Given the description of an element on the screen output the (x, y) to click on. 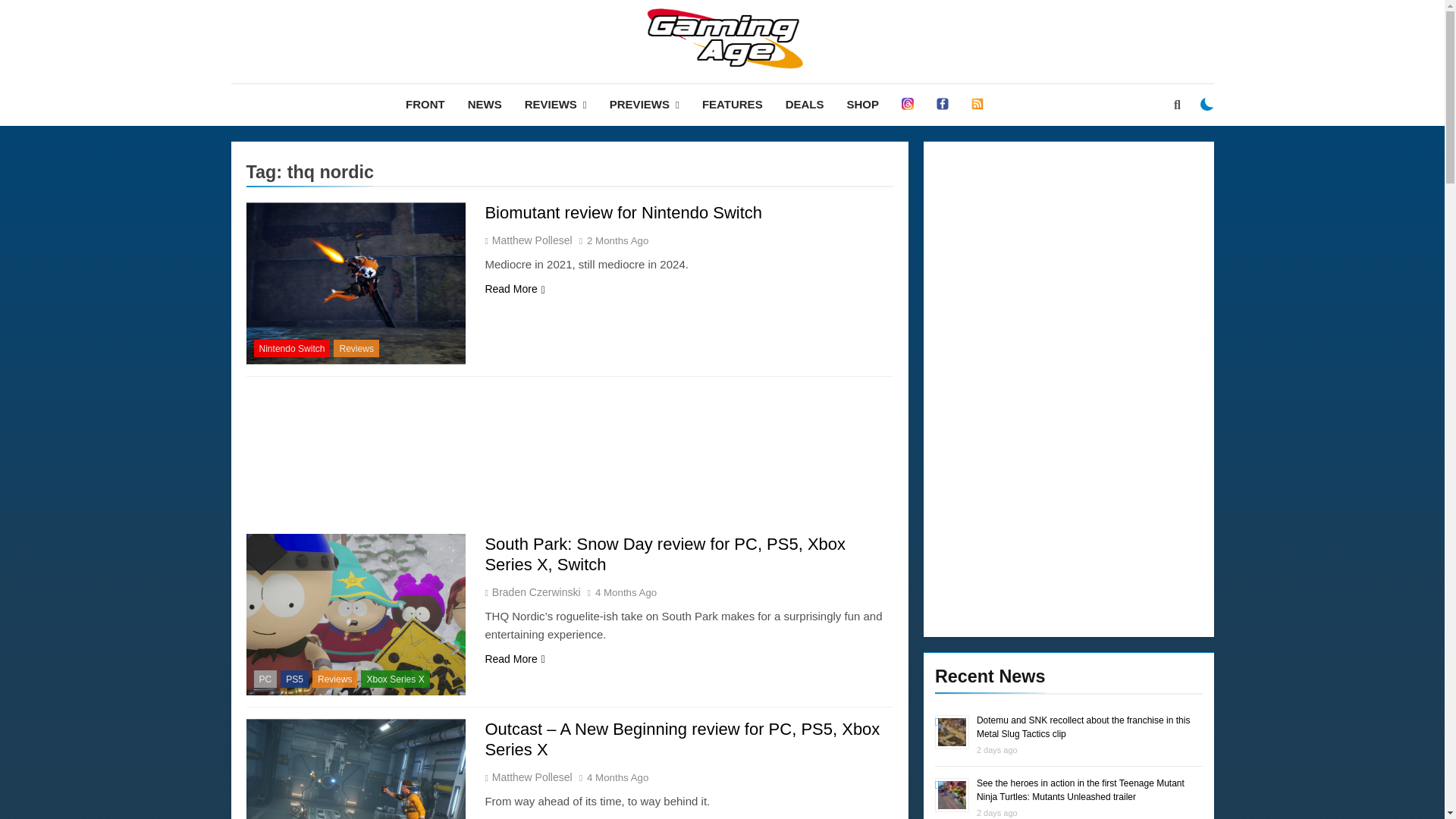
Gaming Age on Facebook (941, 104)
REVIEWS (555, 105)
Advertisement (569, 457)
on (1206, 104)
Biomutant review for Nintendo Switch (622, 212)
PREVIEWS (644, 105)
Gaming Age (571, 92)
